Given the description of an element on the screen output the (x, y) to click on. 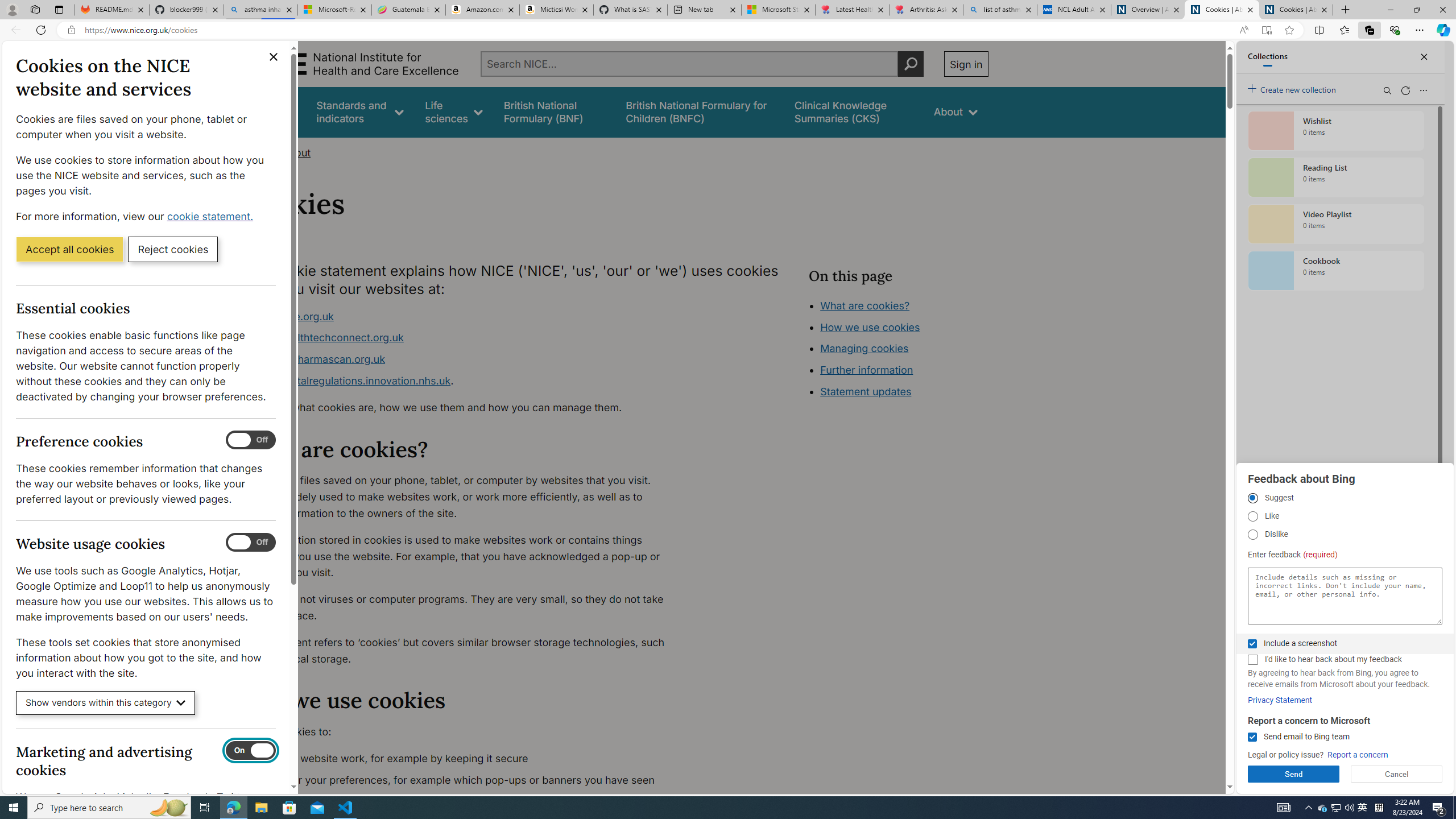
www.ukpharmascan.org.uk (318, 359)
